Given the description of an element on the screen output the (x, y) to click on. 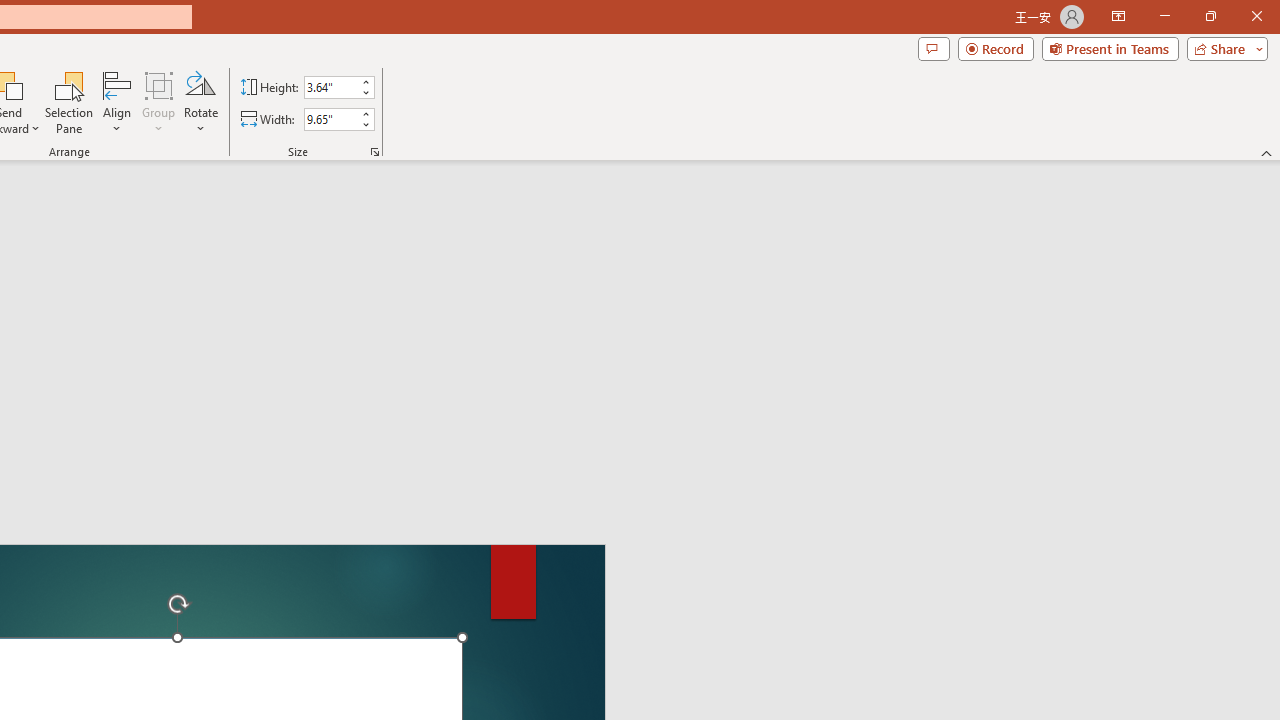
More (365, 113)
Rotate (200, 102)
Shape Width (330, 119)
Shape Height (330, 87)
Size and Position... (374, 151)
Less (365, 124)
